Given the description of an element on the screen output the (x, y) to click on. 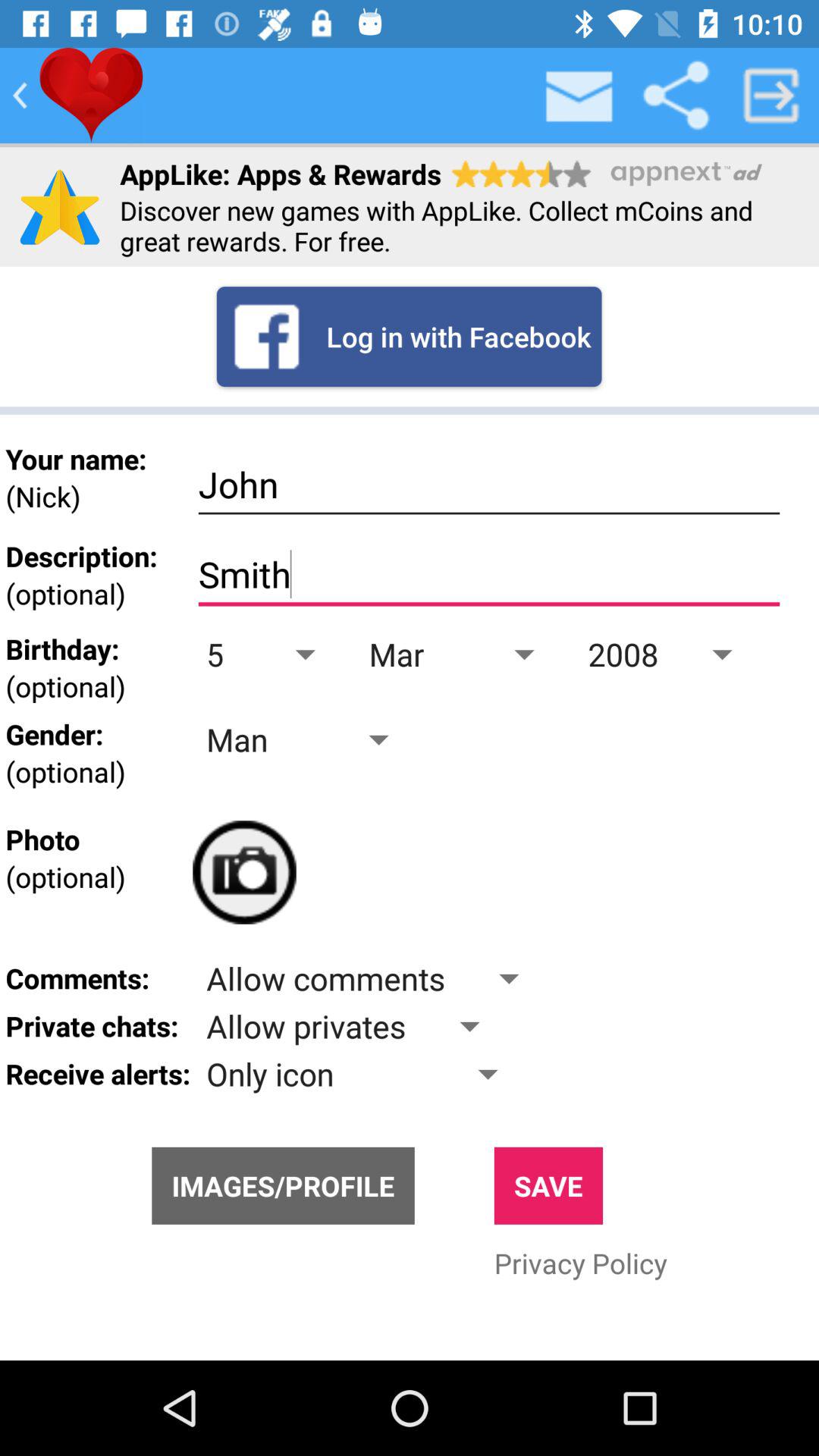
go back (19, 95)
